Given the description of an element on the screen output the (x, y) to click on. 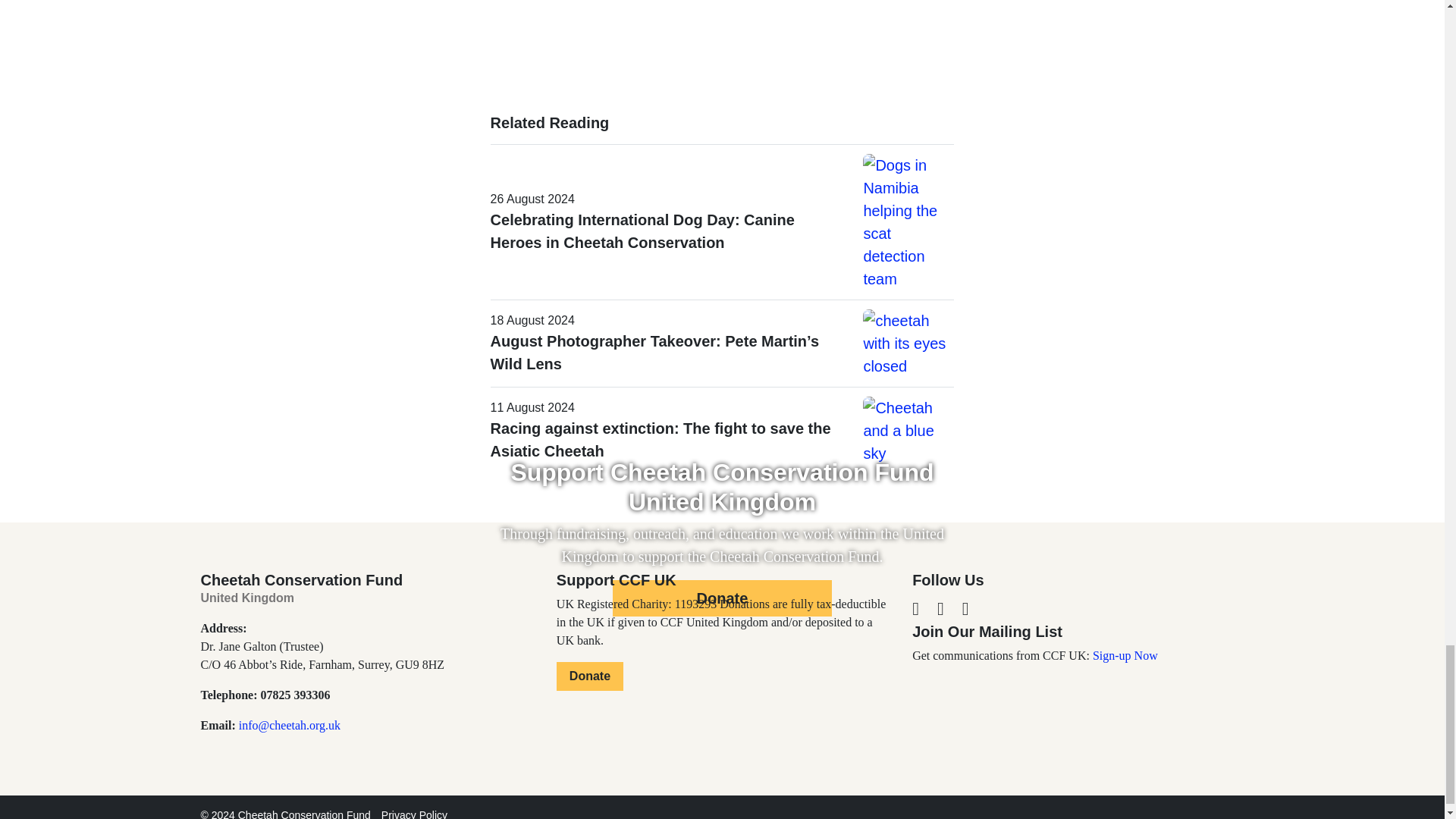
Donate (722, 597)
Donate (589, 676)
Privacy Policy (413, 814)
Sign-up Now (1125, 655)
